Given the description of an element on the screen output the (x, y) to click on. 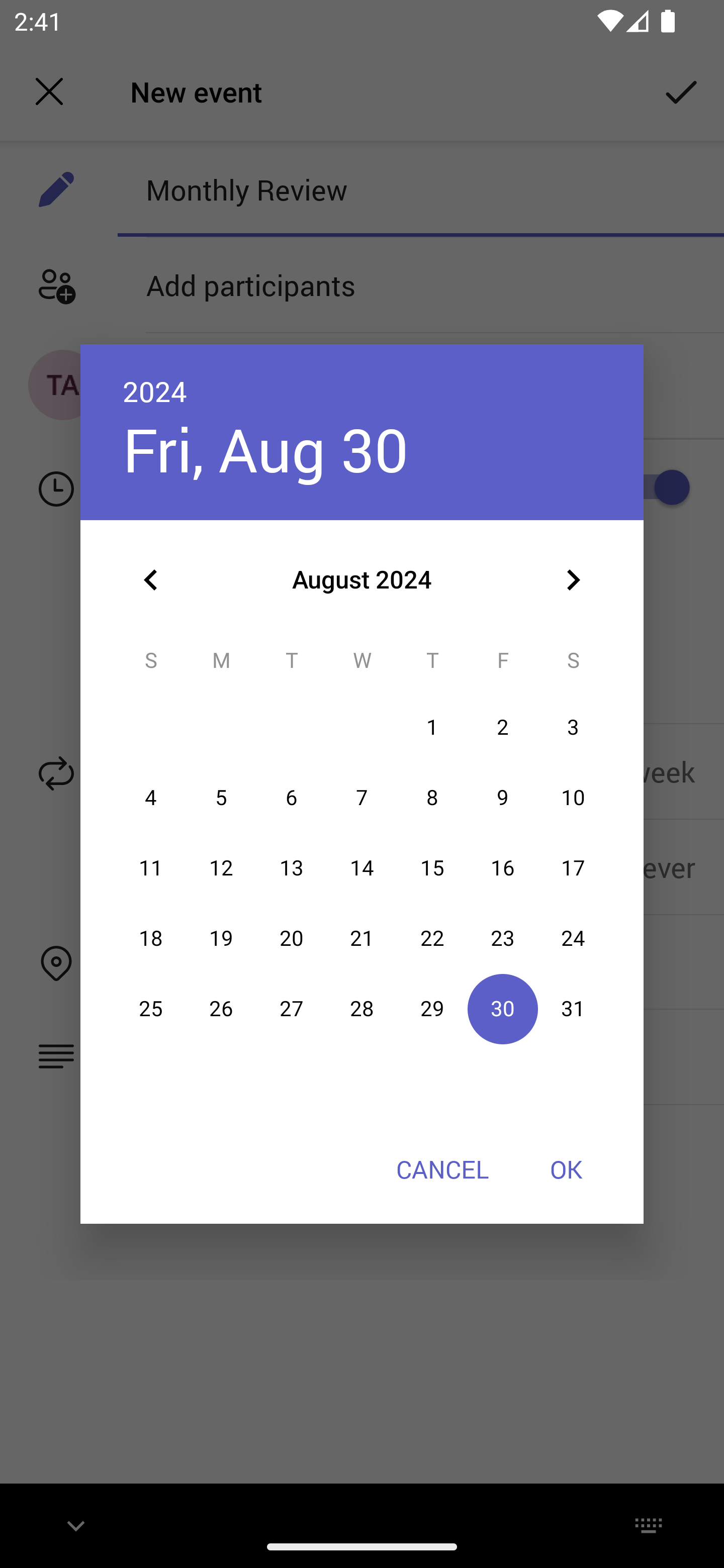
2024 (154, 391)
Fri, Aug 30 (265, 449)
Previous month (150, 579)
Next month (572, 579)
1 01 August 2024 (432, 728)
2 02 August 2024 (502, 728)
3 03 August 2024 (572, 728)
4 04 August 2024 (150, 797)
5 05 August 2024 (221, 797)
6 06 August 2024 (291, 797)
7 07 August 2024 (361, 797)
8 08 August 2024 (432, 797)
9 09 August 2024 (502, 797)
10 10 August 2024 (572, 797)
11 11 August 2024 (150, 867)
12 12 August 2024 (221, 867)
13 13 August 2024 (291, 867)
14 14 August 2024 (361, 867)
15 15 August 2024 (432, 867)
16 16 August 2024 (502, 867)
17 17 August 2024 (572, 867)
18 18 August 2024 (150, 938)
19 19 August 2024 (221, 938)
20 20 August 2024 (291, 938)
21 21 August 2024 (361, 938)
22 22 August 2024 (432, 938)
23 23 August 2024 (502, 938)
24 24 August 2024 (572, 938)
25 25 August 2024 (150, 1008)
26 26 August 2024 (221, 1008)
27 27 August 2024 (291, 1008)
28 28 August 2024 (361, 1008)
29 29 August 2024 (432, 1008)
30 30 August 2024 (502, 1008)
31 31 August 2024 (572, 1008)
CANCEL (442, 1168)
OK (565, 1168)
